Given the description of an element on the screen output the (x, y) to click on. 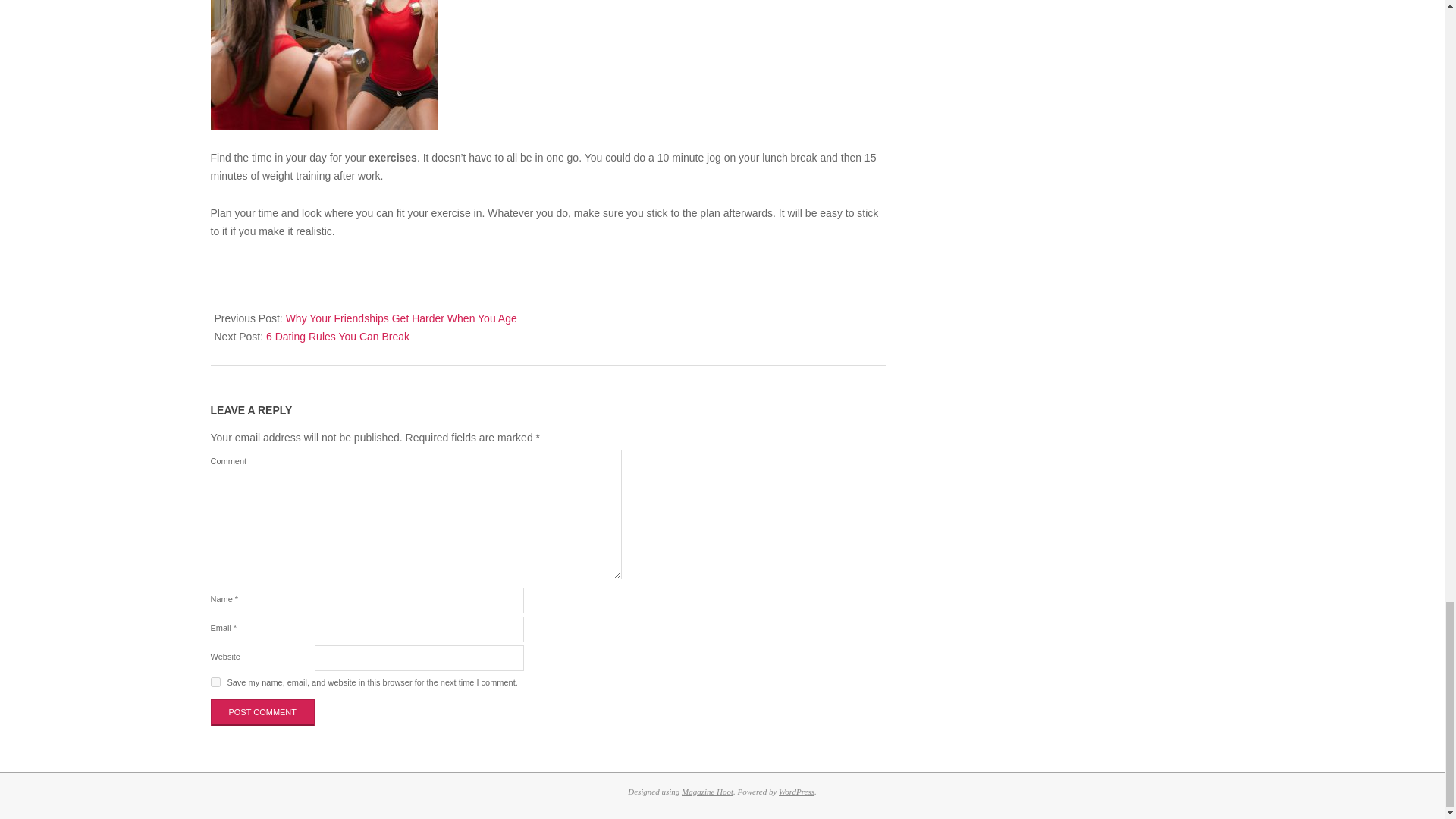
Magazine Hoot WordPress Theme (707, 791)
yes (216, 682)
6 Dating Rules You Can Break (337, 336)
Post Comment (263, 712)
Why Your Friendships Get Harder When You Age (400, 318)
Post Comment (263, 712)
